Given the description of an element on the screen output the (x, y) to click on. 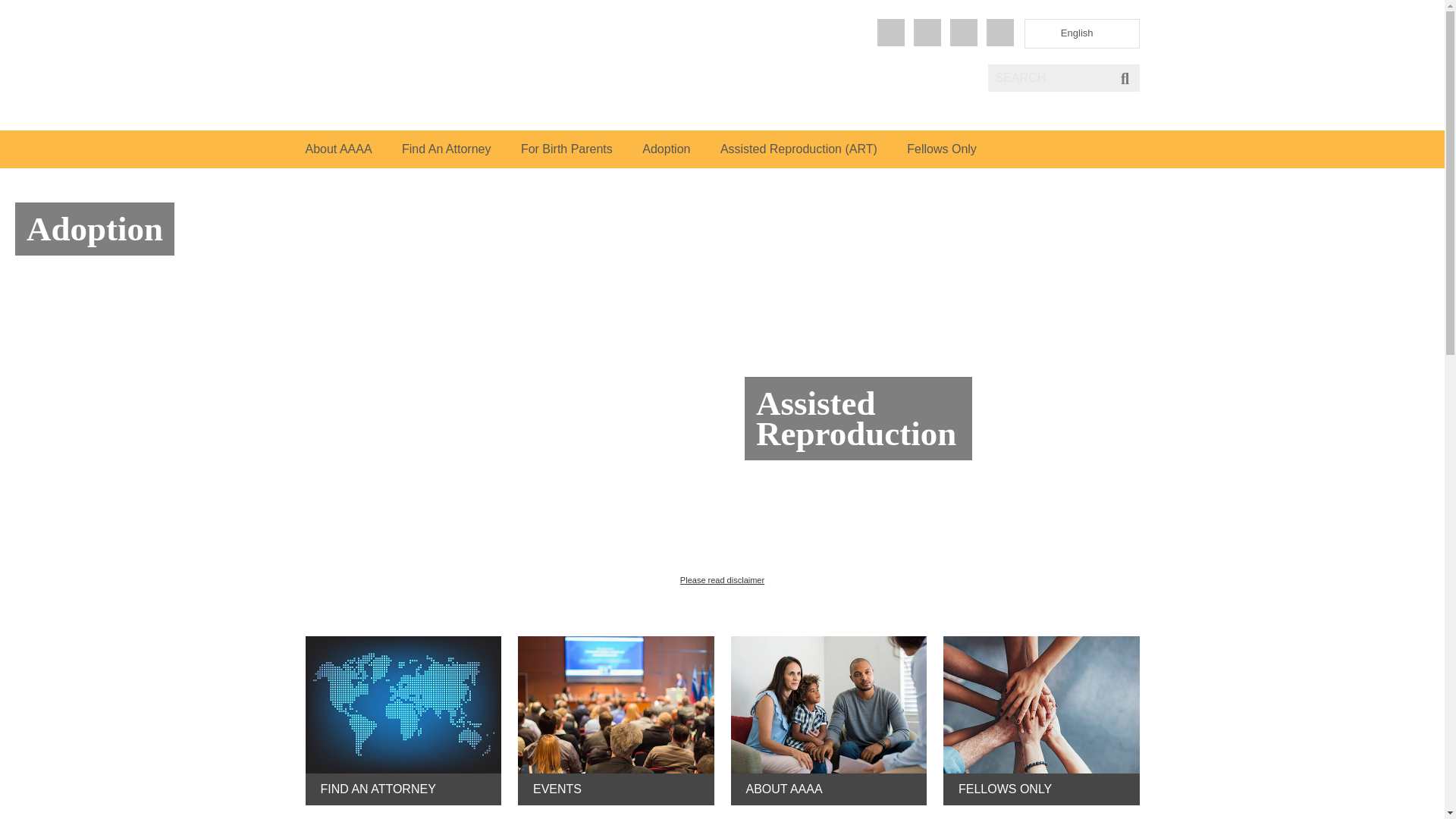
Find An Attorney (445, 149)
About AAAA (337, 149)
For Birth Parents (566, 149)
Adoption (666, 149)
